Given the description of an element on the screen output the (x, y) to click on. 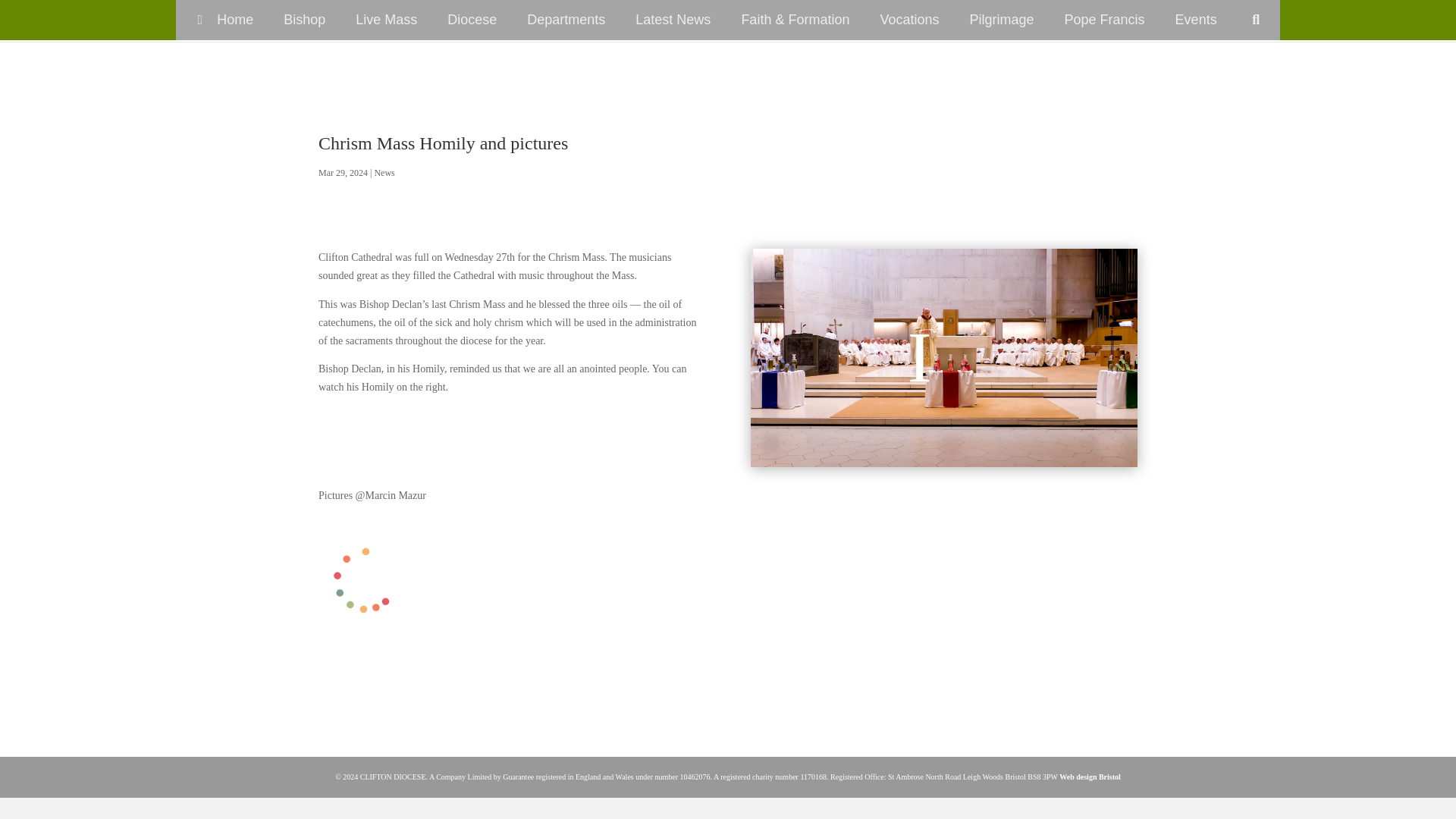
Chrism Mass 2024 Bishop Declan Homily (944, 357)
Diocese (472, 20)
Live Mass (386, 20)
Departments (566, 20)
Home (221, 20)
Bishop (303, 20)
 Website design YZ DESIGNS (1090, 777)
